Given the description of an element on the screen output the (x, y) to click on. 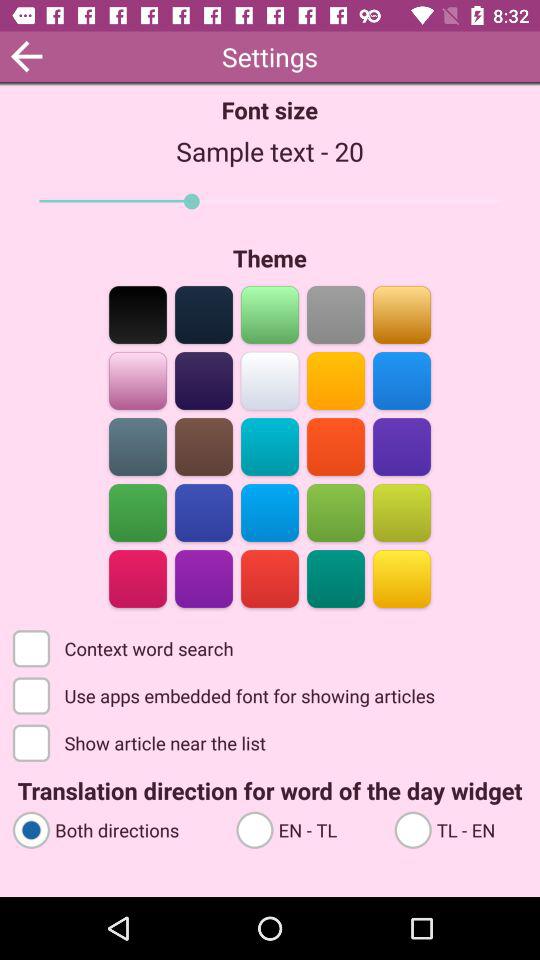
click the both directions radio button (115, 828)
